Given the description of an element on the screen output the (x, y) to click on. 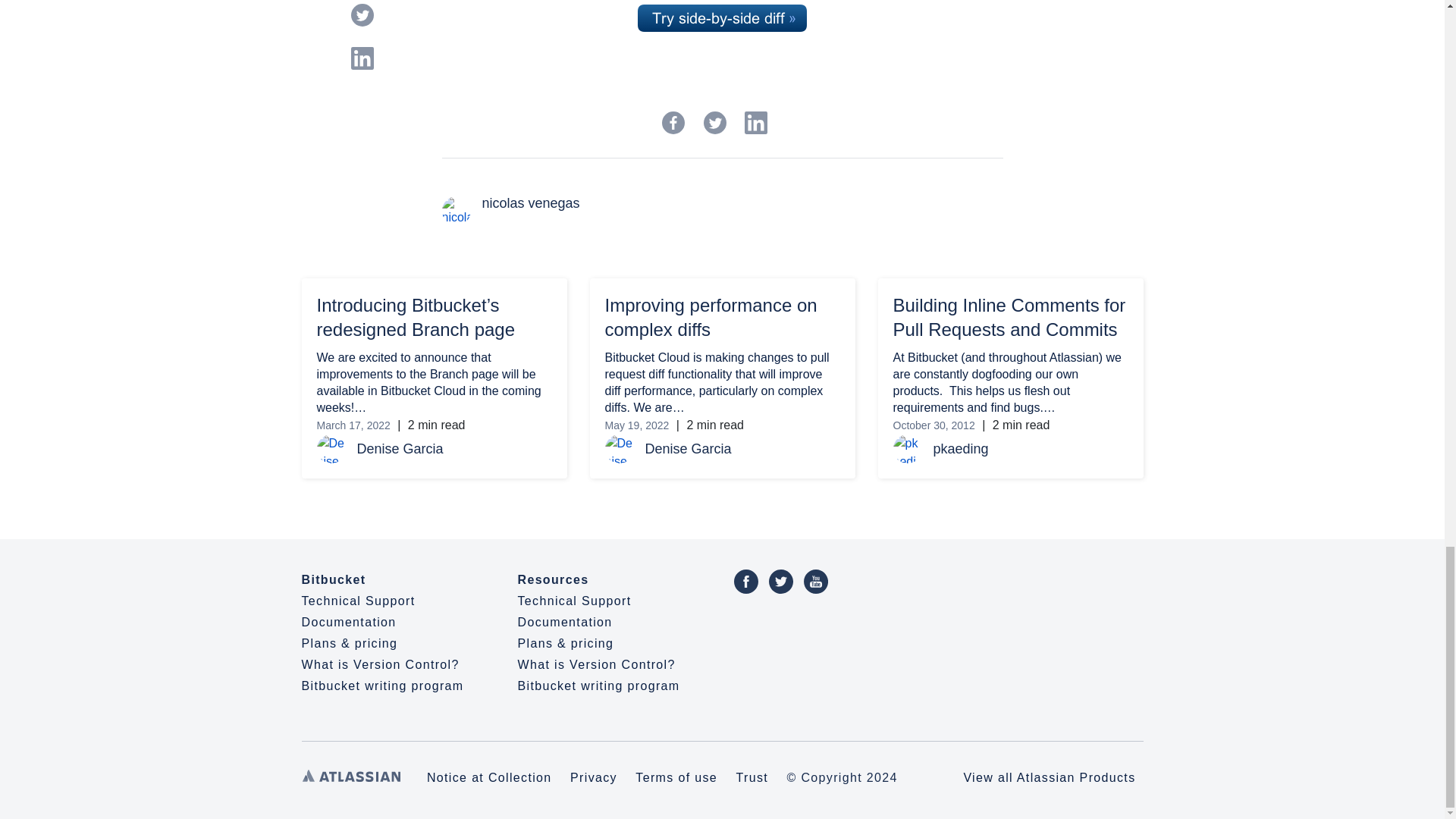
What is Version Control? (595, 664)
Bitbucket writing program (597, 685)
nicolas venegas (742, 202)
Denise Garcia (453, 448)
Bitbucket writing program (382, 685)
Building Inline Comments for Pull Requests and Commits (1009, 316)
Technical Support (573, 600)
Share to Twitter (714, 122)
Documentation (348, 621)
Atlassian on YouTube (815, 581)
